Given the description of an element on the screen output the (x, y) to click on. 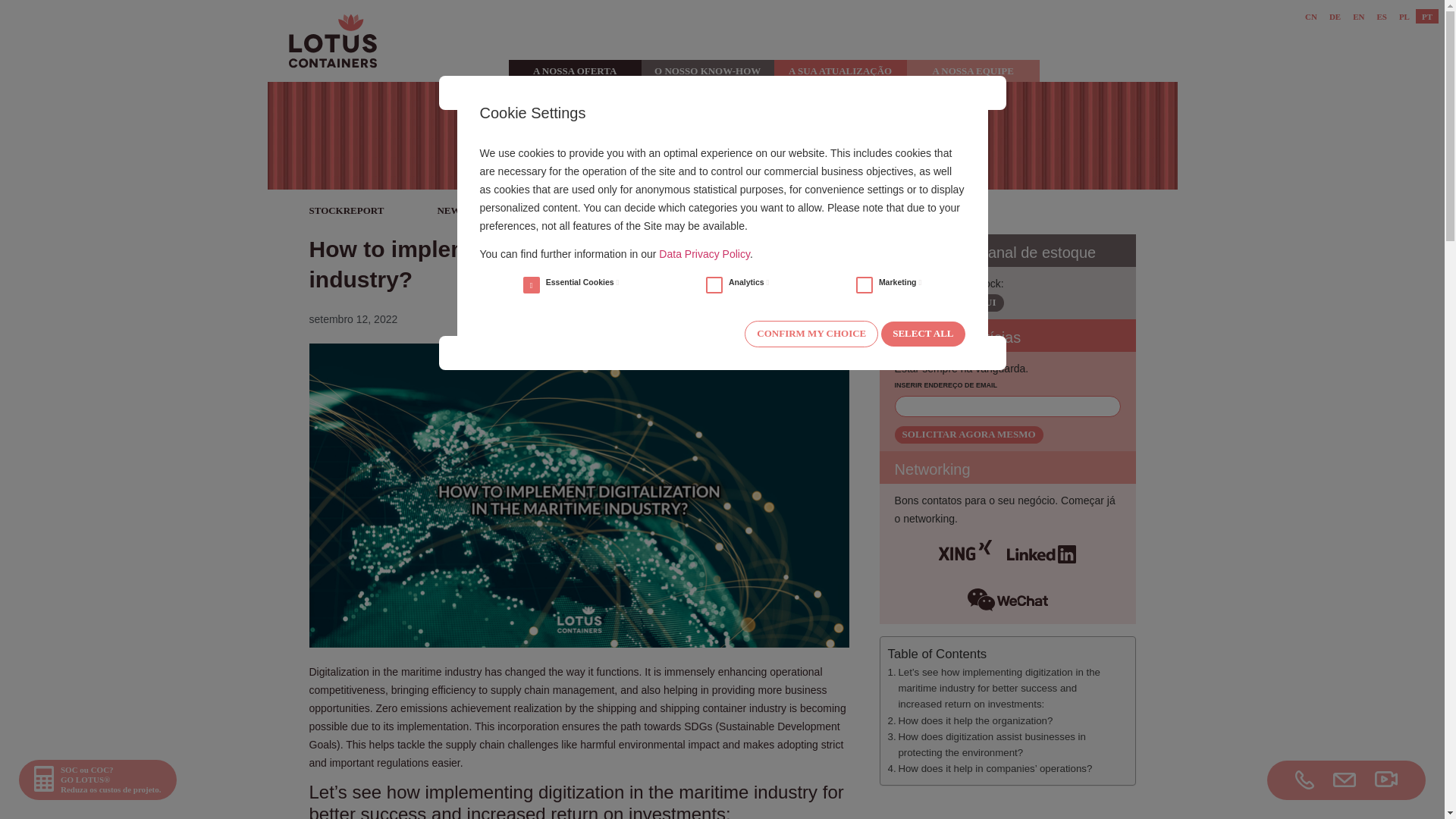
LOTUS Containers (1295, 780)
EN (1358, 16)
ES (1380, 16)
PT (1426, 16)
A NOSSA OFERTA (575, 71)
PL (1404, 16)
A NOSSA EQUIPE (973, 71)
CN (1310, 16)
